Given the description of an element on the screen output the (x, y) to click on. 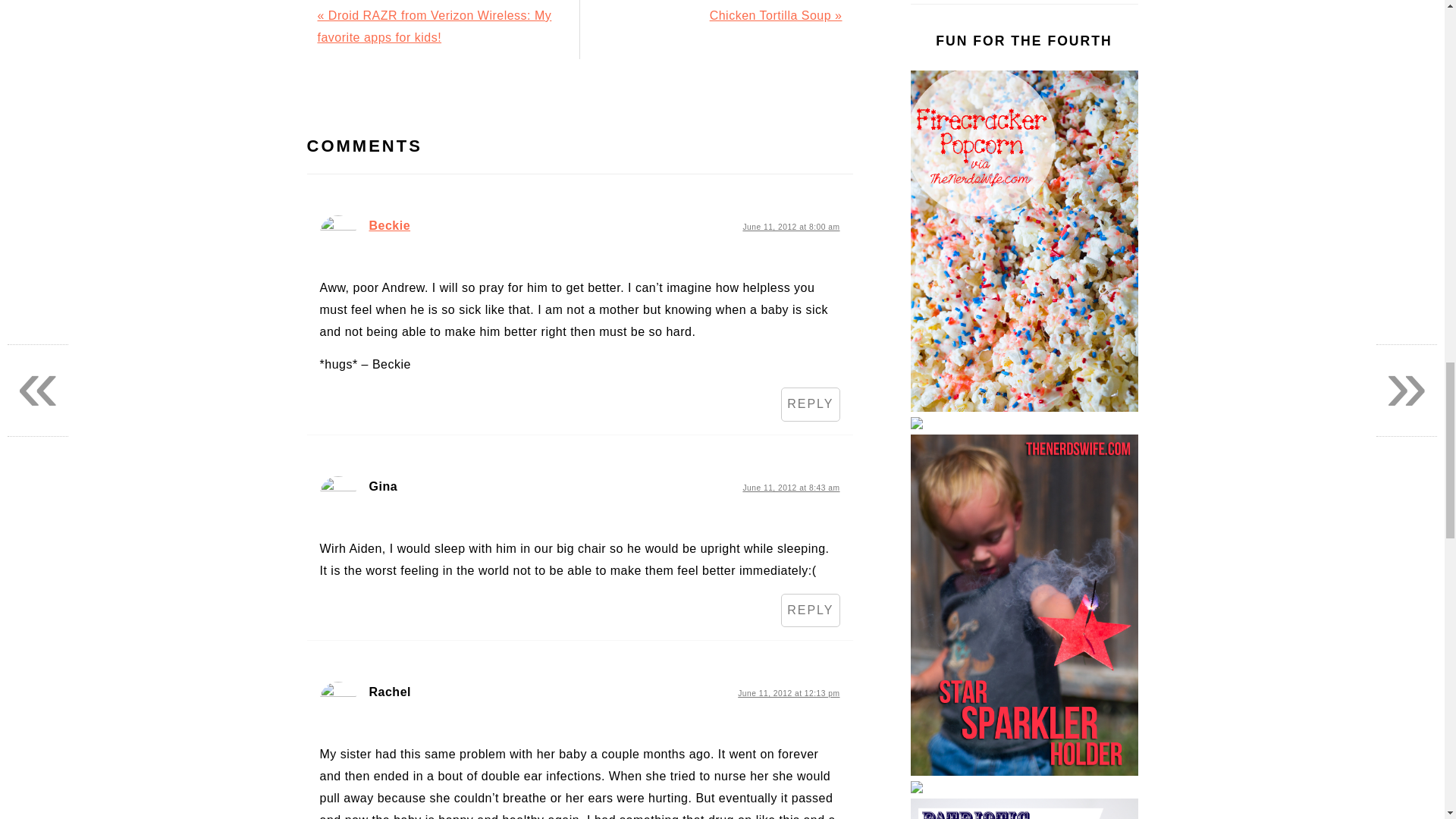
June 11, 2012 at 8:43 am (791, 488)
June 11, 2012 at 12:13 pm (789, 693)
REPLY (810, 610)
June 11, 2012 at 8:00 am (791, 226)
REPLY (810, 404)
Beckie (389, 225)
